Given the description of an element on the screen output the (x, y) to click on. 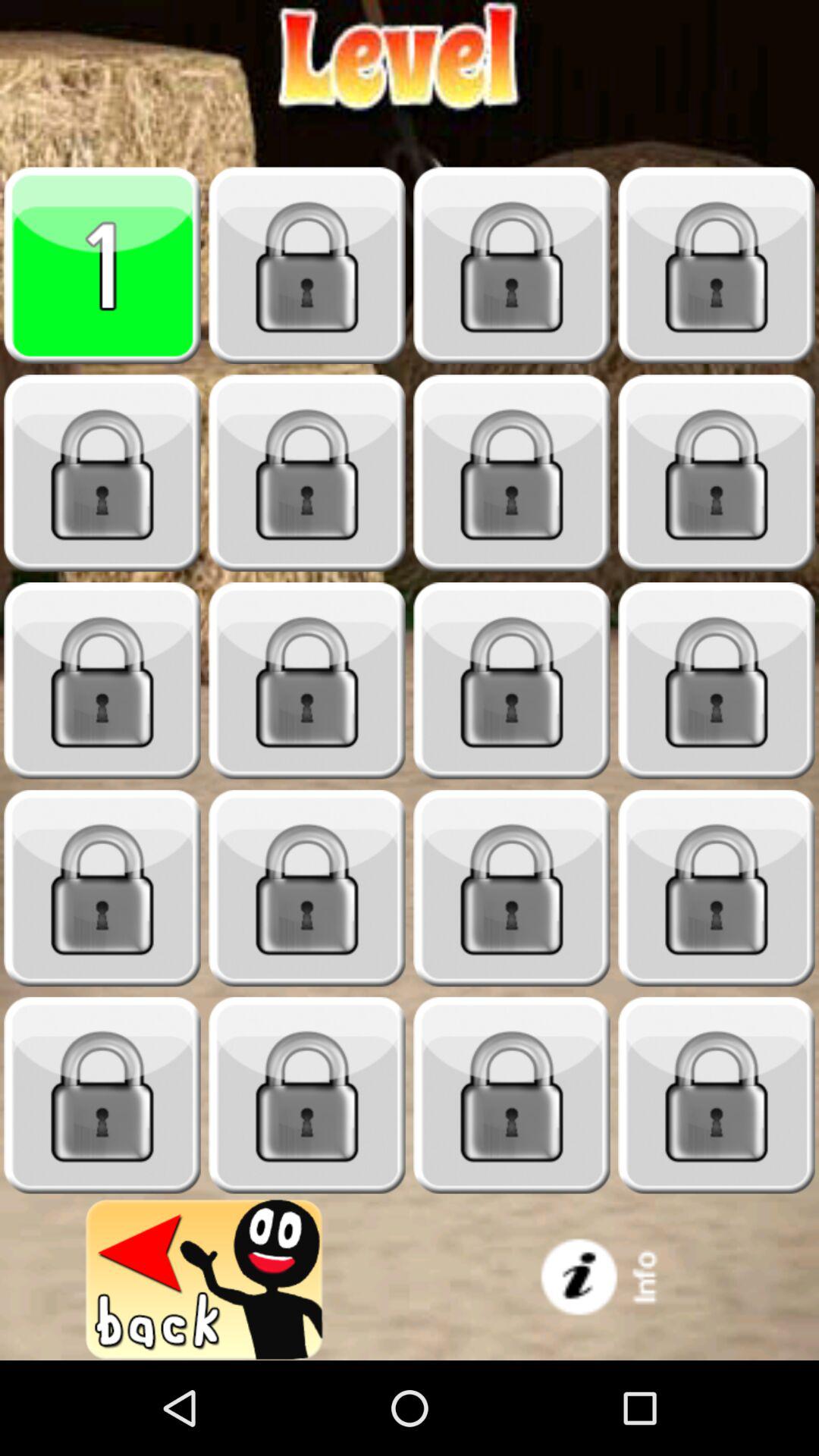
locked game level (511, 680)
